Given the description of an element on the screen output the (x, y) to click on. 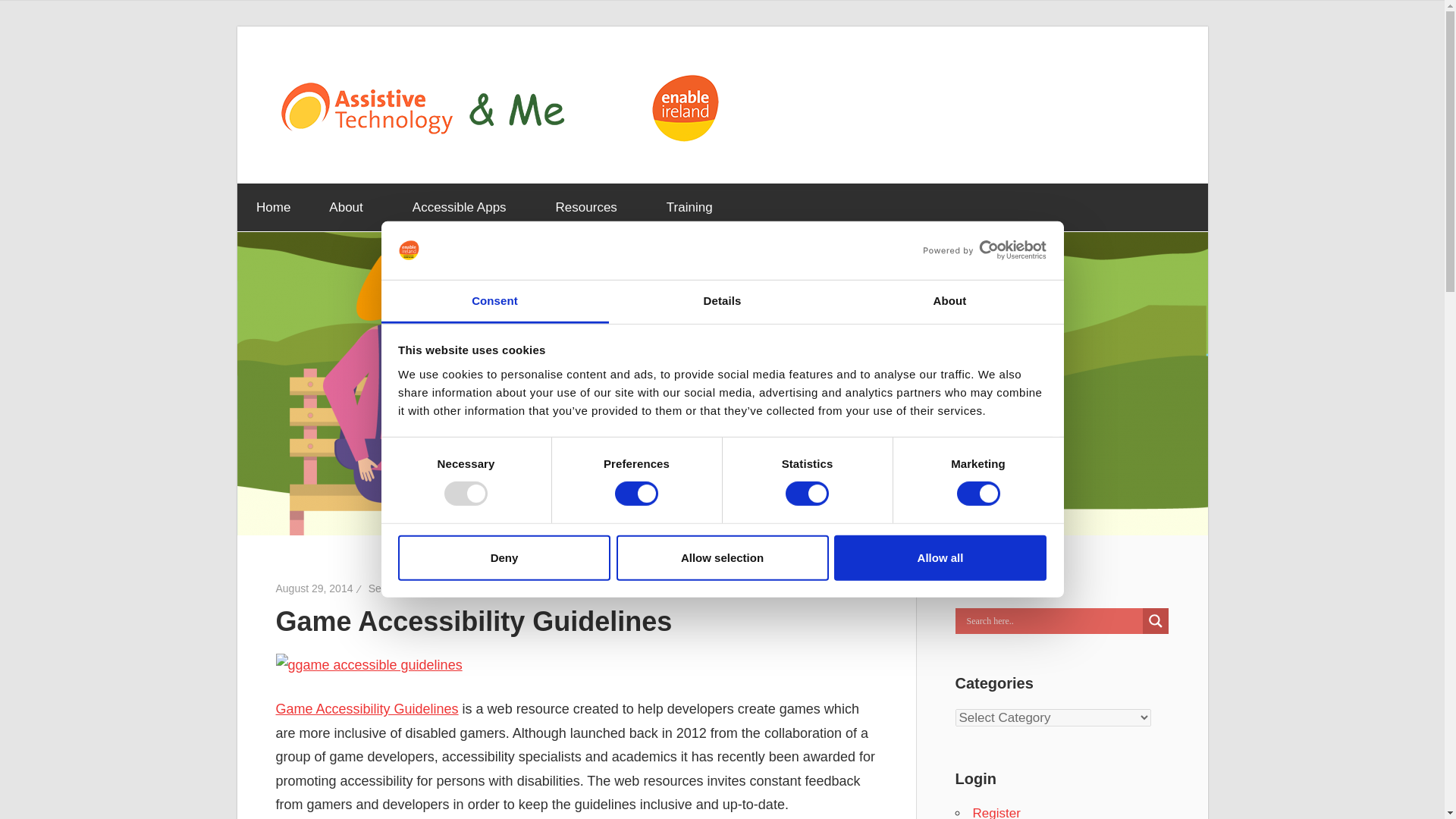
About (948, 301)
Details (721, 301)
Consent (494, 301)
